Given the description of an element on the screen output the (x, y) to click on. 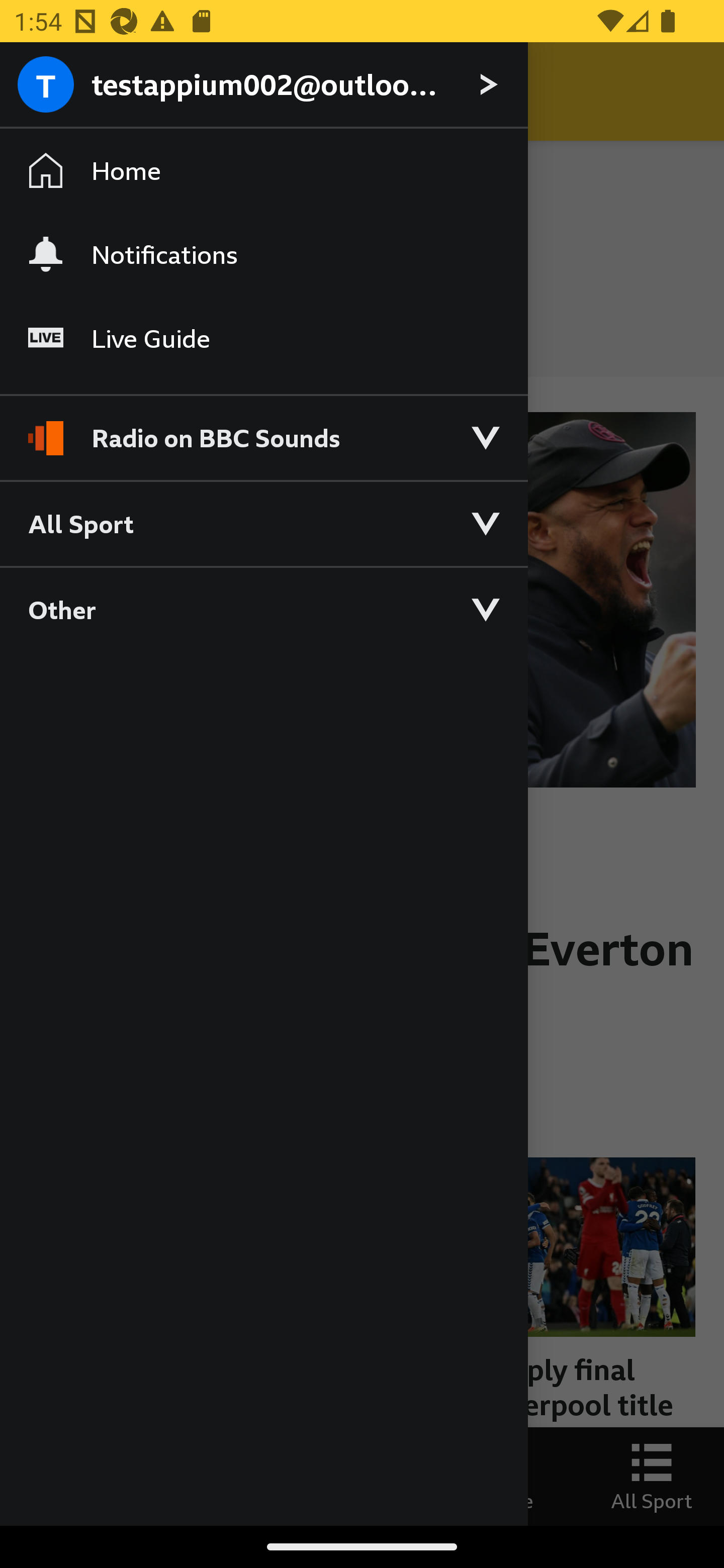
testappium002@outlook.com (263, 85)
Home (263, 170)
Notifications (263, 253)
Live Guide (263, 338)
Radio on BBC Sounds (263, 429)
All Sport (263, 522)
Other (263, 609)
